Given the description of an element on the screen output the (x, y) to click on. 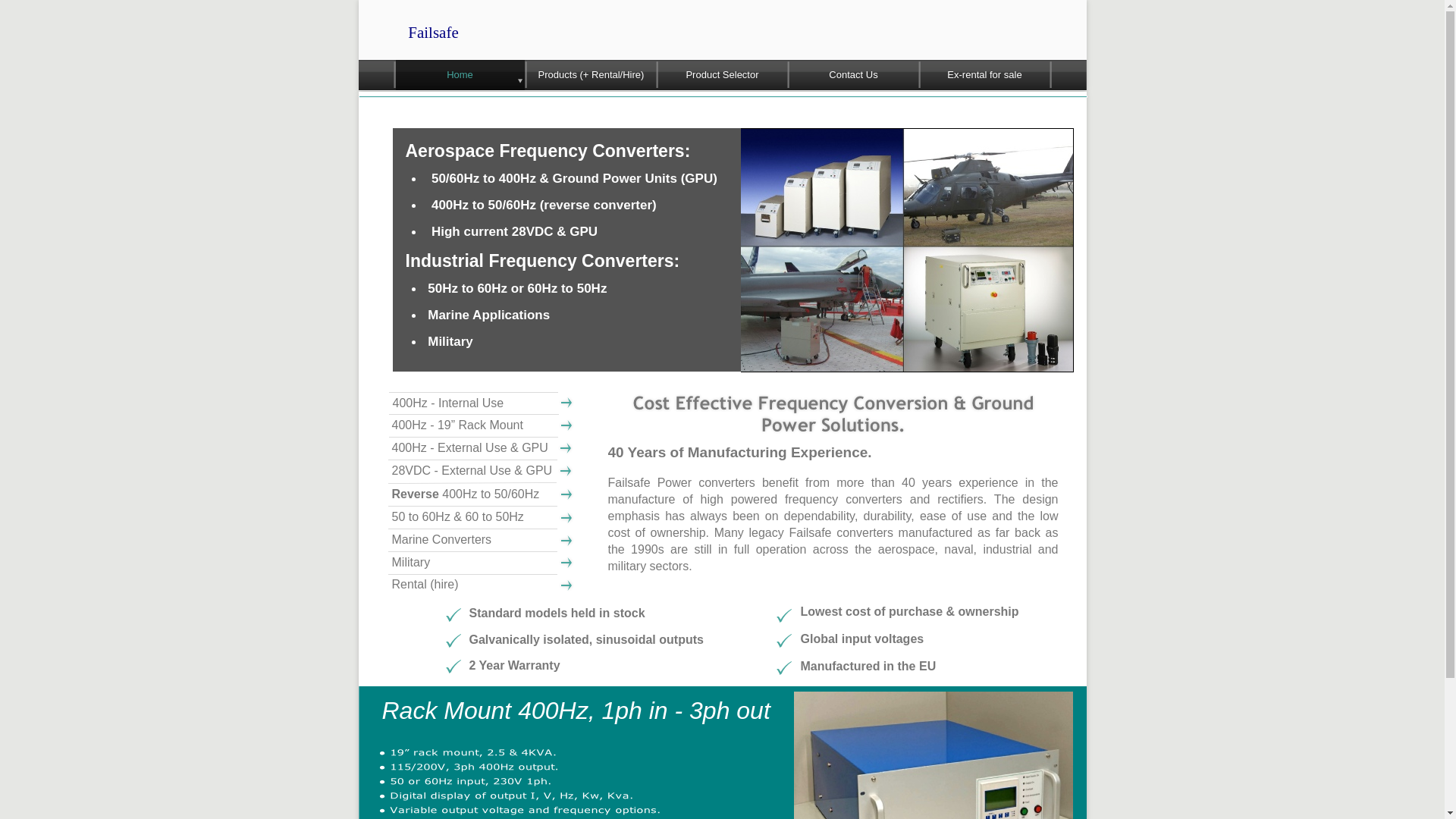
Frequency Converter Home Page (460, 74)
Product Selector (722, 74)
Home (460, 74)
Frequency converter contacts page (853, 74)
Ex-rental for sale (984, 74)
Frequency Converter pricing page (722, 74)
Contact Us (853, 74)
Frequency Converter Products Page (590, 74)
